Given the description of an element on the screen output the (x, y) to click on. 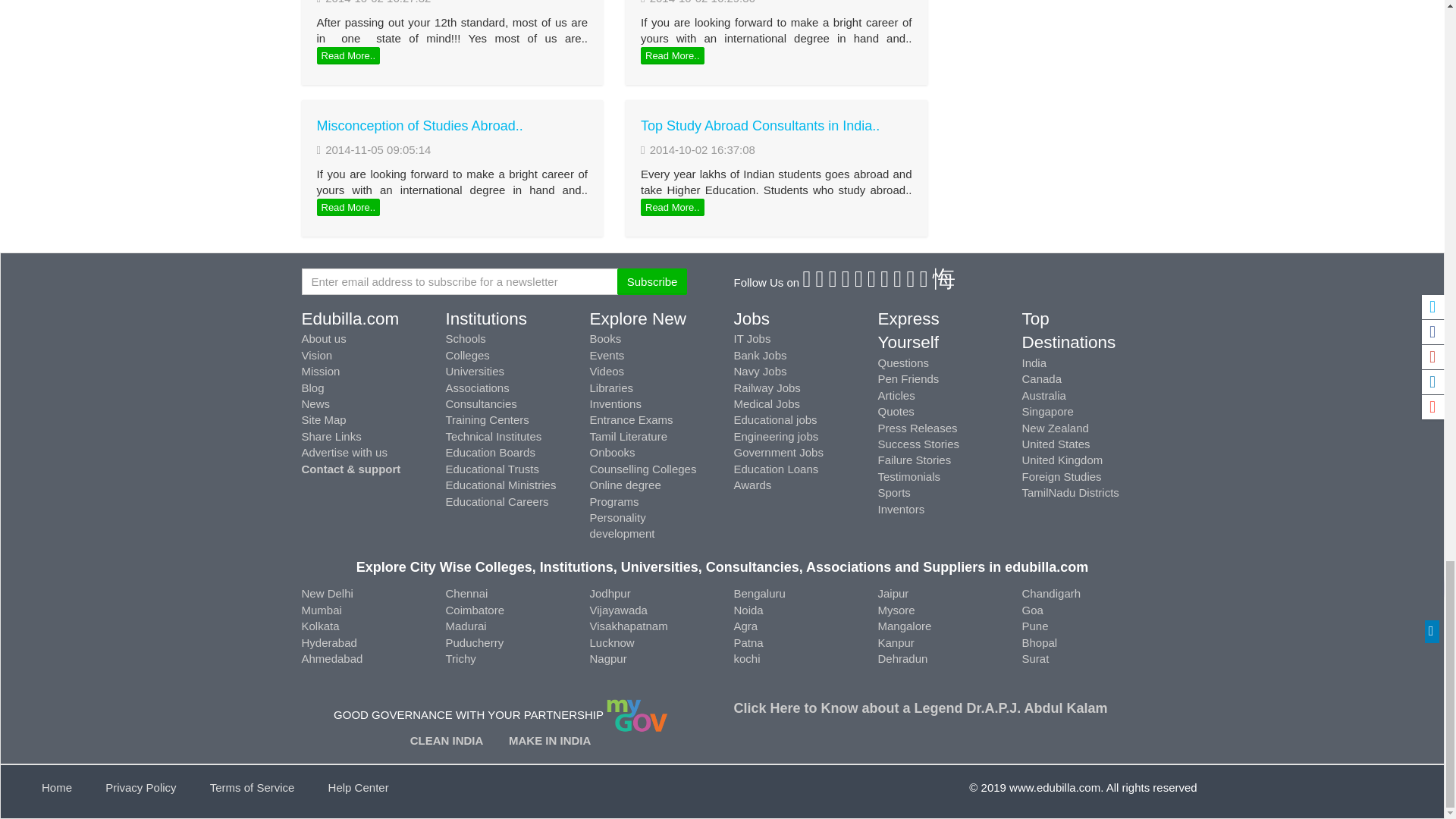
Top Study Abroad Consultants in India (759, 125)
Subscribe (652, 281)
Top Study Abroad Consultants in India.. (759, 125)
Read More.. (672, 208)
Misconception of Studies Abroad (419, 125)
Misconception of Studies Abroad.. (419, 125)
Read More.. (348, 208)
Subscribe (652, 281)
Google Plus (833, 282)
Read More.. (672, 55)
flickr (884, 282)
Linkedin (846, 282)
Pinterest (859, 282)
Facebook (807, 282)
Tumblr (872, 282)
